Given the description of an element on the screen output the (x, y) to click on. 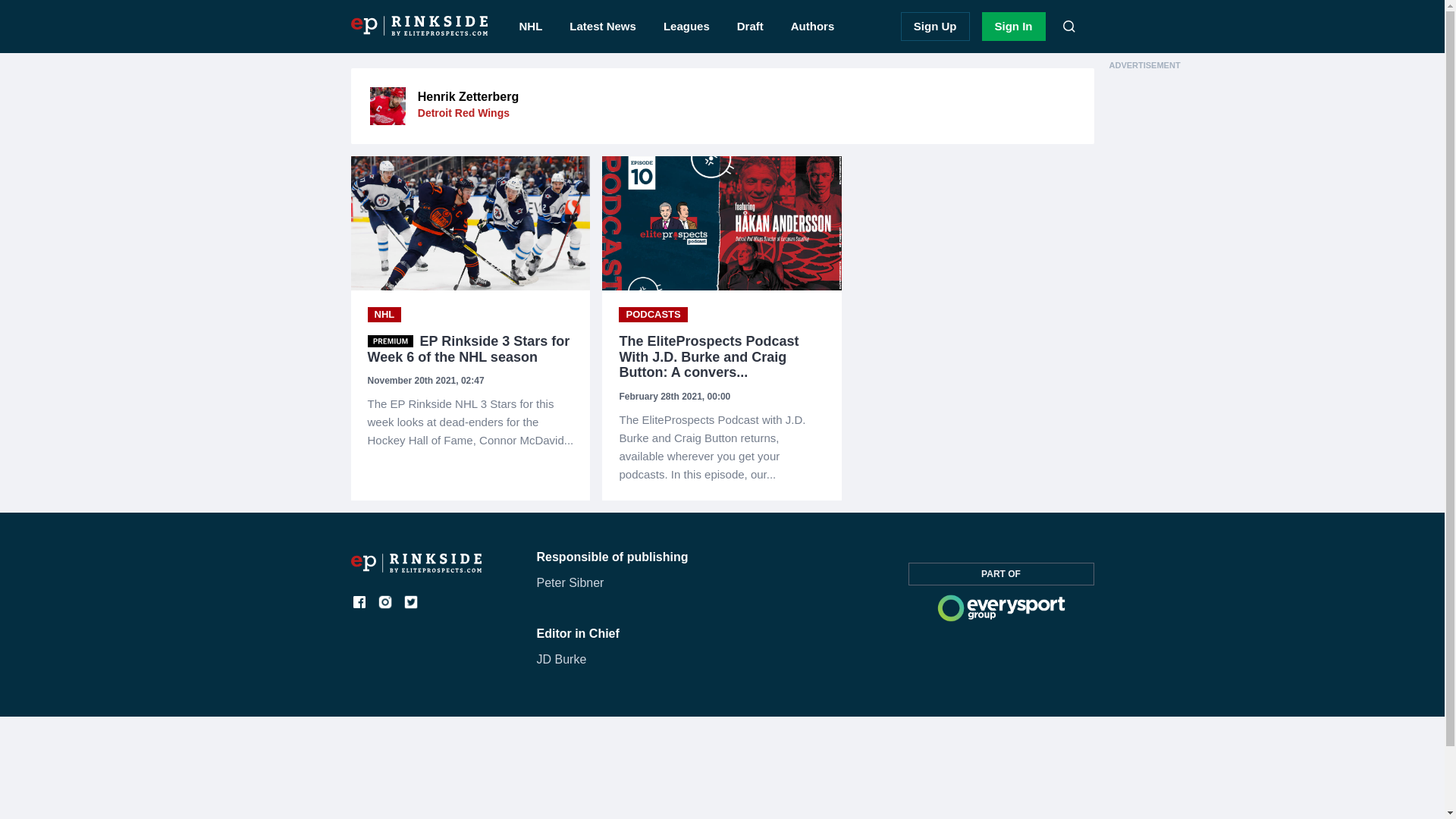
eprinkside.com (415, 567)
EP Rinkside 3 Stars for Week 6 of the NHL season (469, 348)
NHL (383, 314)
Draft (750, 26)
Detroit Red Wings (463, 112)
EP Rinkside 3 Stars for Week 6 of the NHL season (469, 421)
Latest News (602, 26)
Sign In (1013, 26)
Sign Up (935, 26)
NHL (383, 314)
PODCASTS (652, 314)
NHL (530, 26)
Podcasts (652, 314)
